Given the description of an element on the screen output the (x, y) to click on. 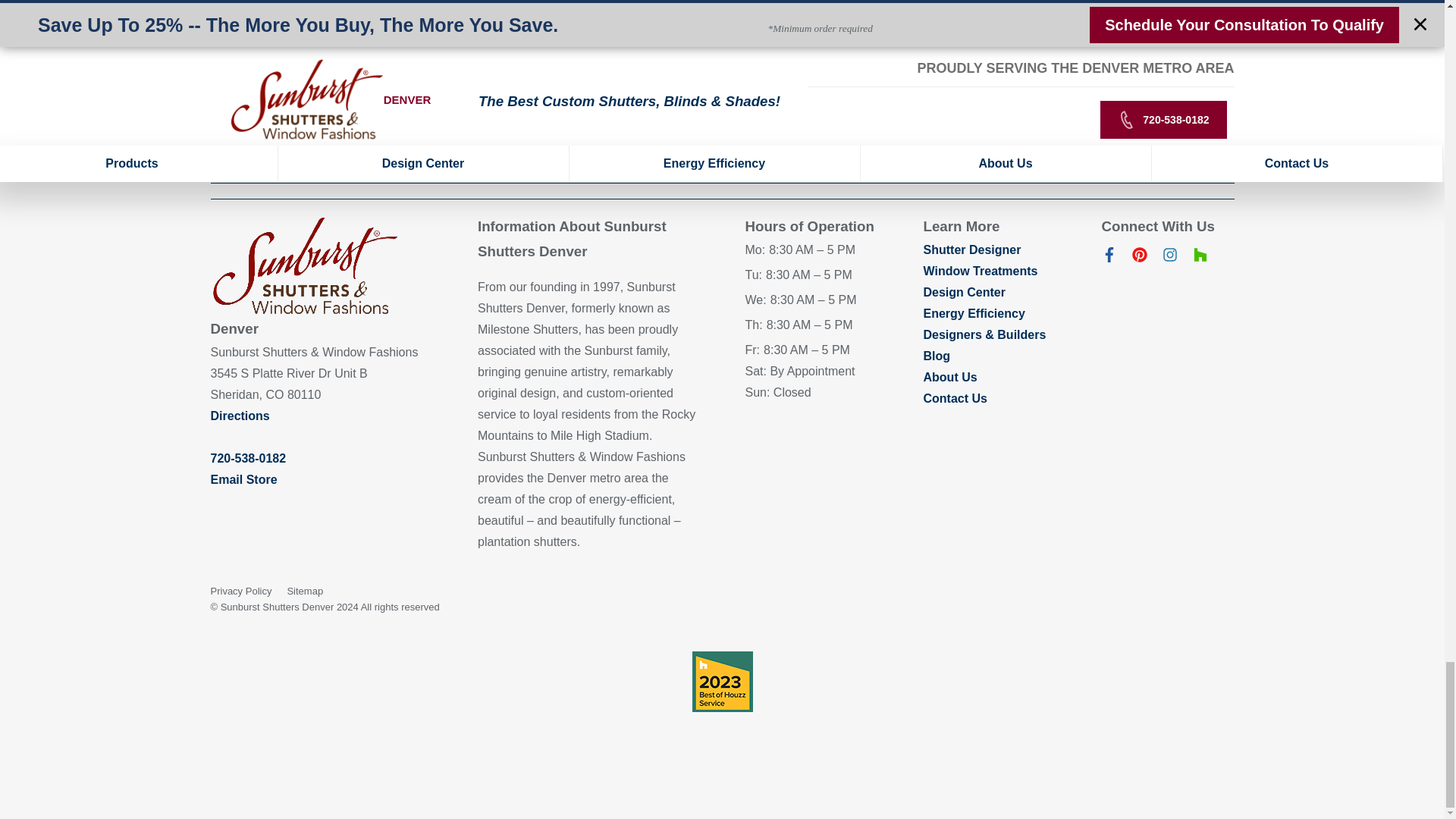
Follow us on Instagram (1168, 257)
Save us on Houzz (1199, 257)
Like us on Facebook (1108, 257)
Follow us on Pinterest (1139, 257)
Best Of Houzz 2024 (721, 681)
